Given the description of an element on the screen output the (x, y) to click on. 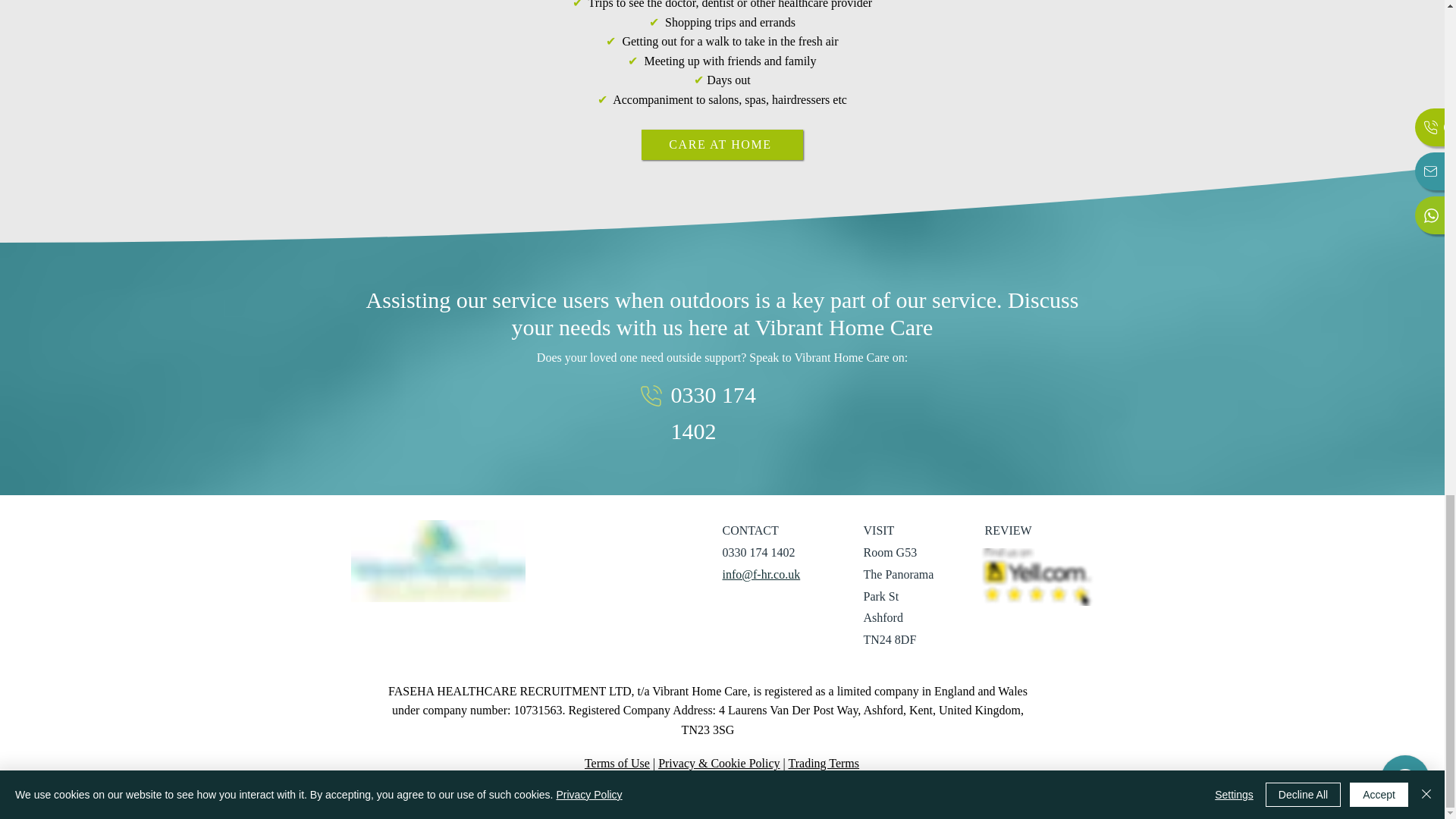
CARE AT HOME (722, 144)
Trading Terms (823, 762)
Terms of Use (617, 762)
